Given the description of an element on the screen output the (x, y) to click on. 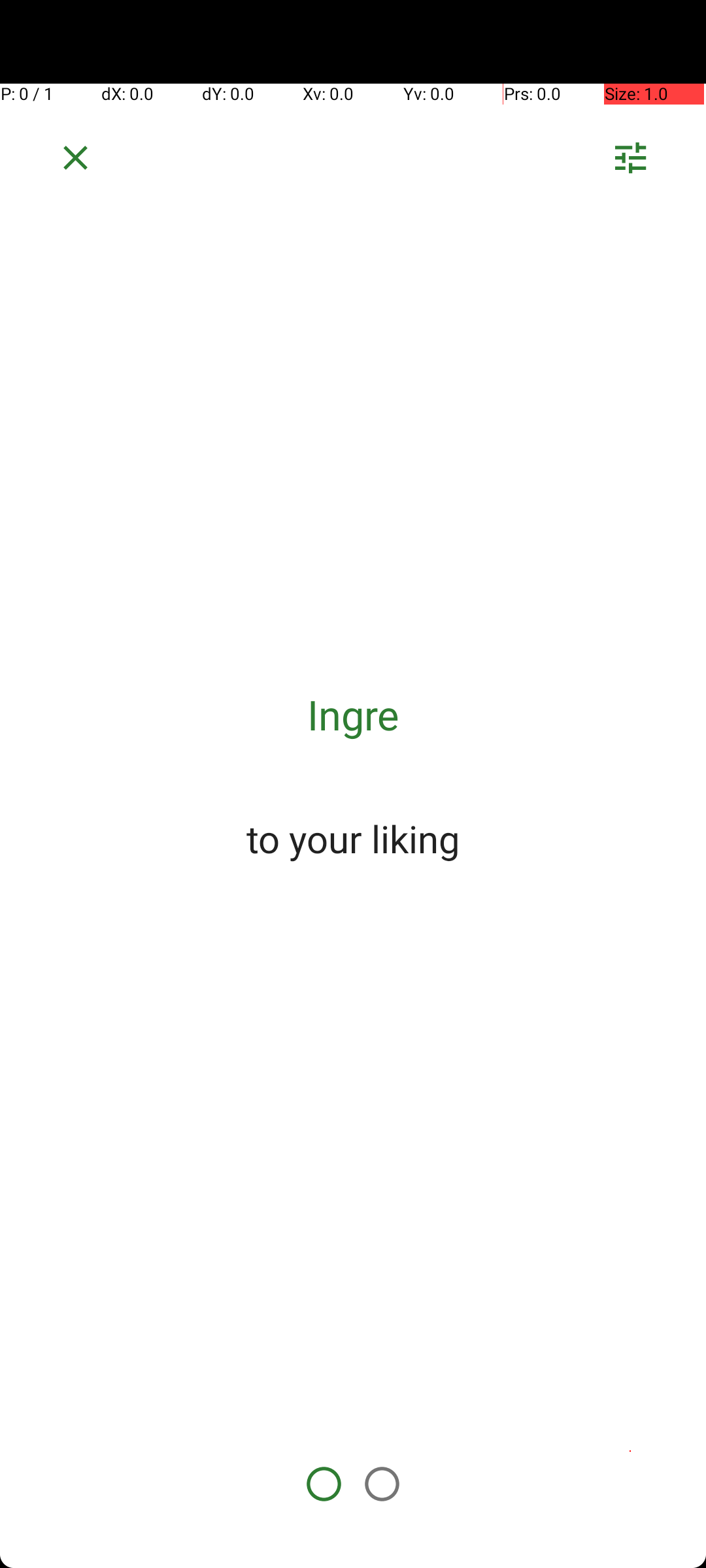
to your liking Element type: android.widget.TextView (352, 838)
